Given the description of an element on the screen output the (x, y) to click on. 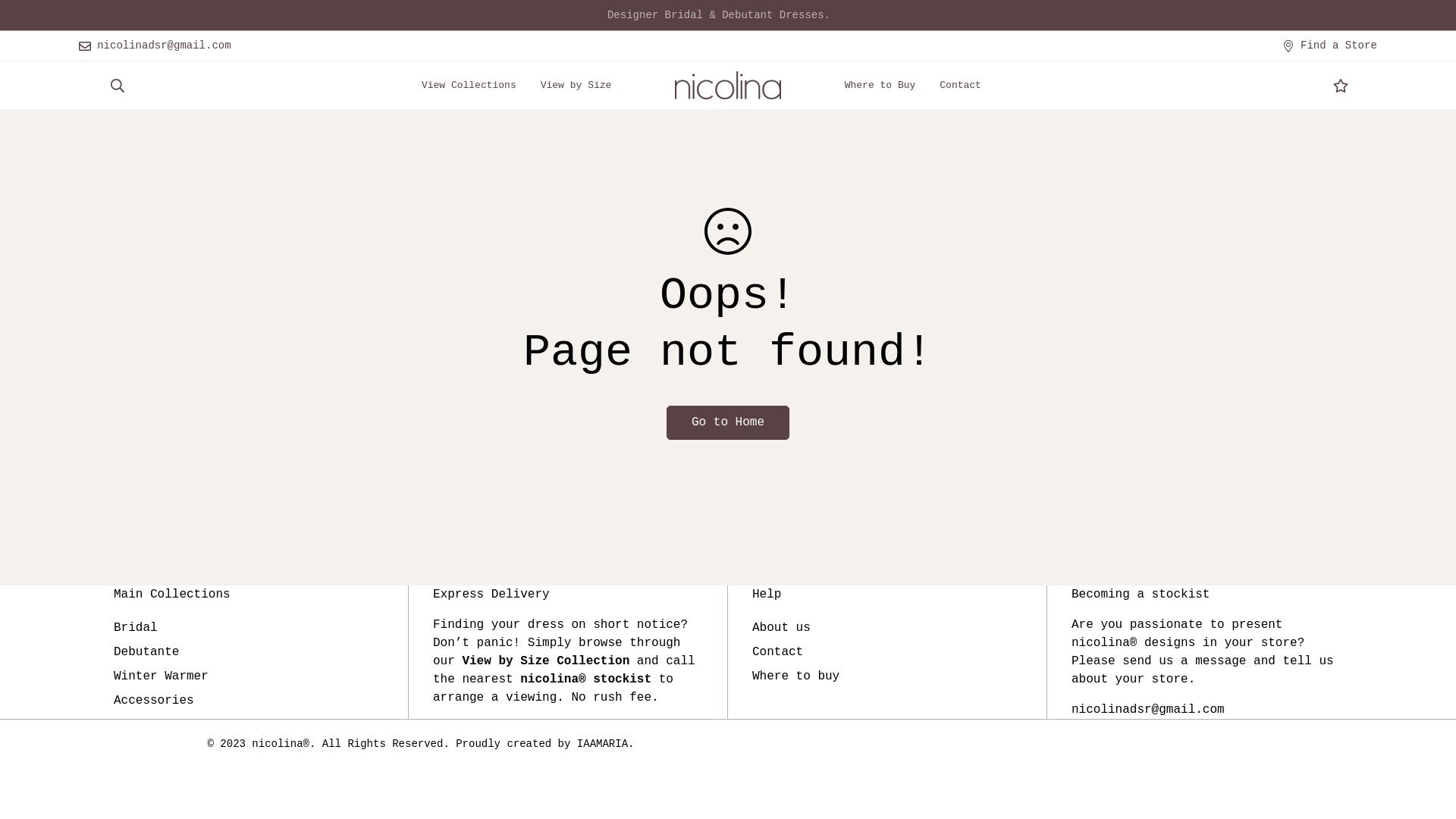
Go to Home Element type: text (727, 422)
nicolinadsr@gmail.com Element type: text (1147, 709)
Where to buy Element type: text (795, 676)
Contact Element type: text (960, 85)
Where to Buy Element type: text (880, 85)
Find a Store Element type: text (1329, 45)
Accessories Element type: text (153, 700)
View by Size Element type: text (576, 85)
nicolinadsr@gmail.com Element type: text (154, 45)
Nicolina Element type: hover (727, 84)
Bridal Element type: text (135, 627)
Debutante Element type: text (145, 652)
Contact Element type: text (777, 652)
About us Element type: text (781, 627)
Winter Warmer Element type: text (160, 676)
View Collections Element type: text (468, 85)
View by Size Collection Element type: text (545, 661)
